Given the description of an element on the screen output the (x, y) to click on. 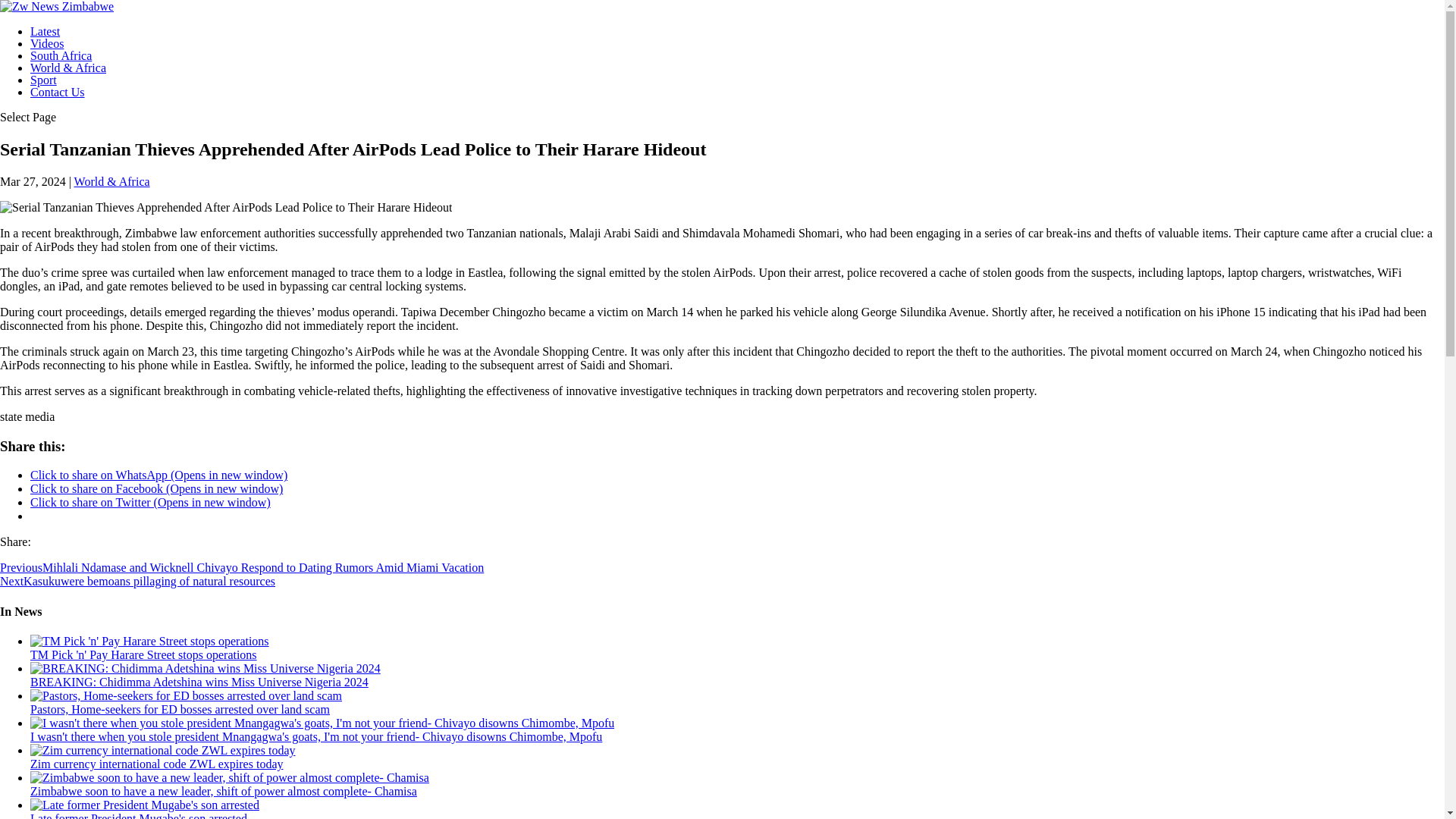
TM Pick 'n' Pay Harare Street stops operations (143, 654)
Zim currency international code ZWL expires today (162, 749)
Latest (44, 31)
Contact Us (57, 91)
Late former President Mugabe's son arrested (138, 815)
Click to share on WhatsApp (158, 474)
Pastors, Home-seekers for ED bosses arrested over land scam (180, 708)
Sport (43, 79)
